Given the description of an element on the screen output the (x, y) to click on. 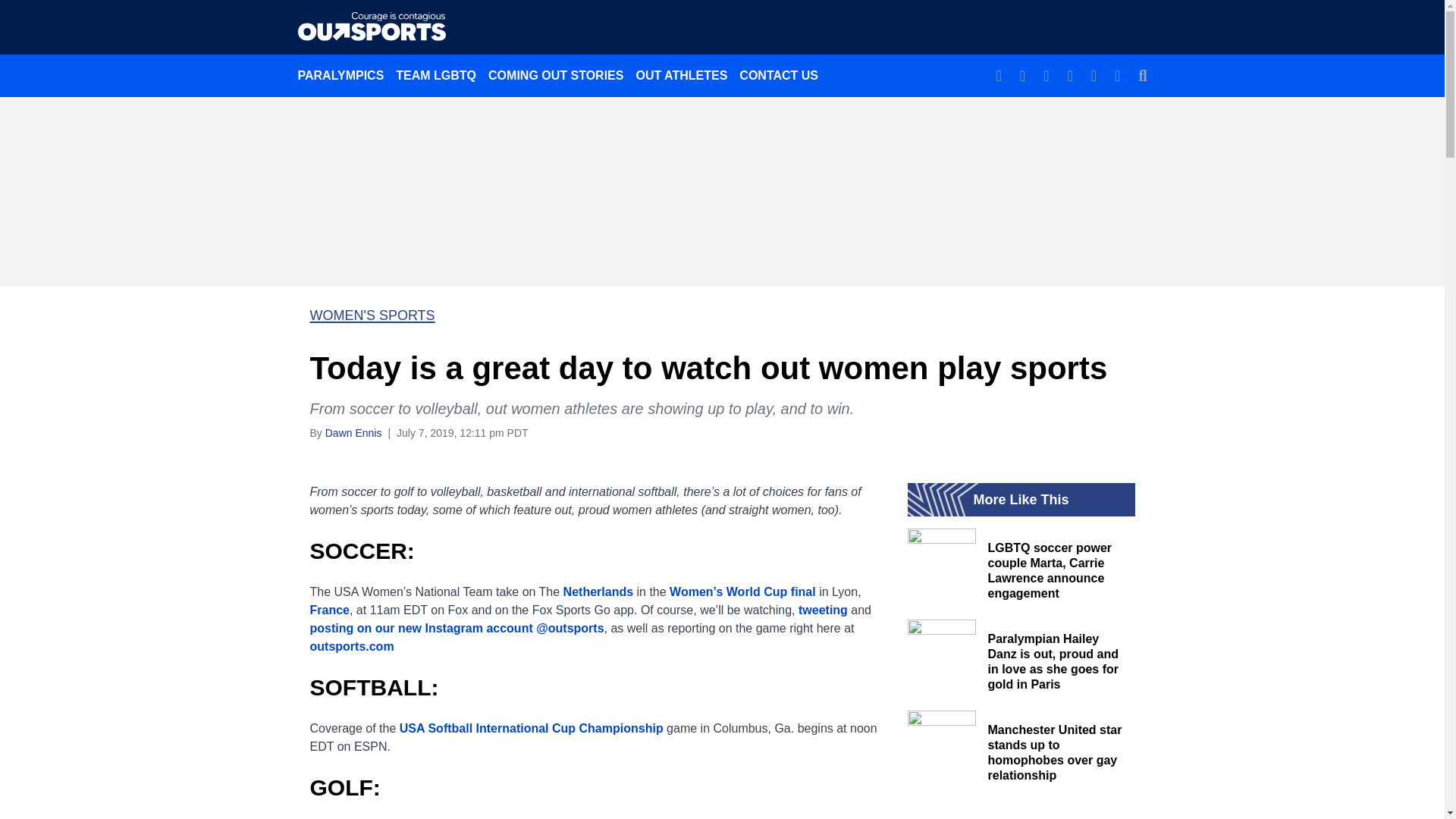
CONTACT US (778, 75)
PARALYMPICS (340, 75)
USA Softball International Cup Championship (530, 727)
WOMEN'S SPORTS (370, 314)
TEAM LGBTQ (435, 75)
Netherlands (598, 591)
tweeting (822, 609)
OUT ATHLETES (680, 75)
France (328, 609)
COMING OUT STORIES (554, 75)
